Given the description of an element on the screen output the (x, y) to click on. 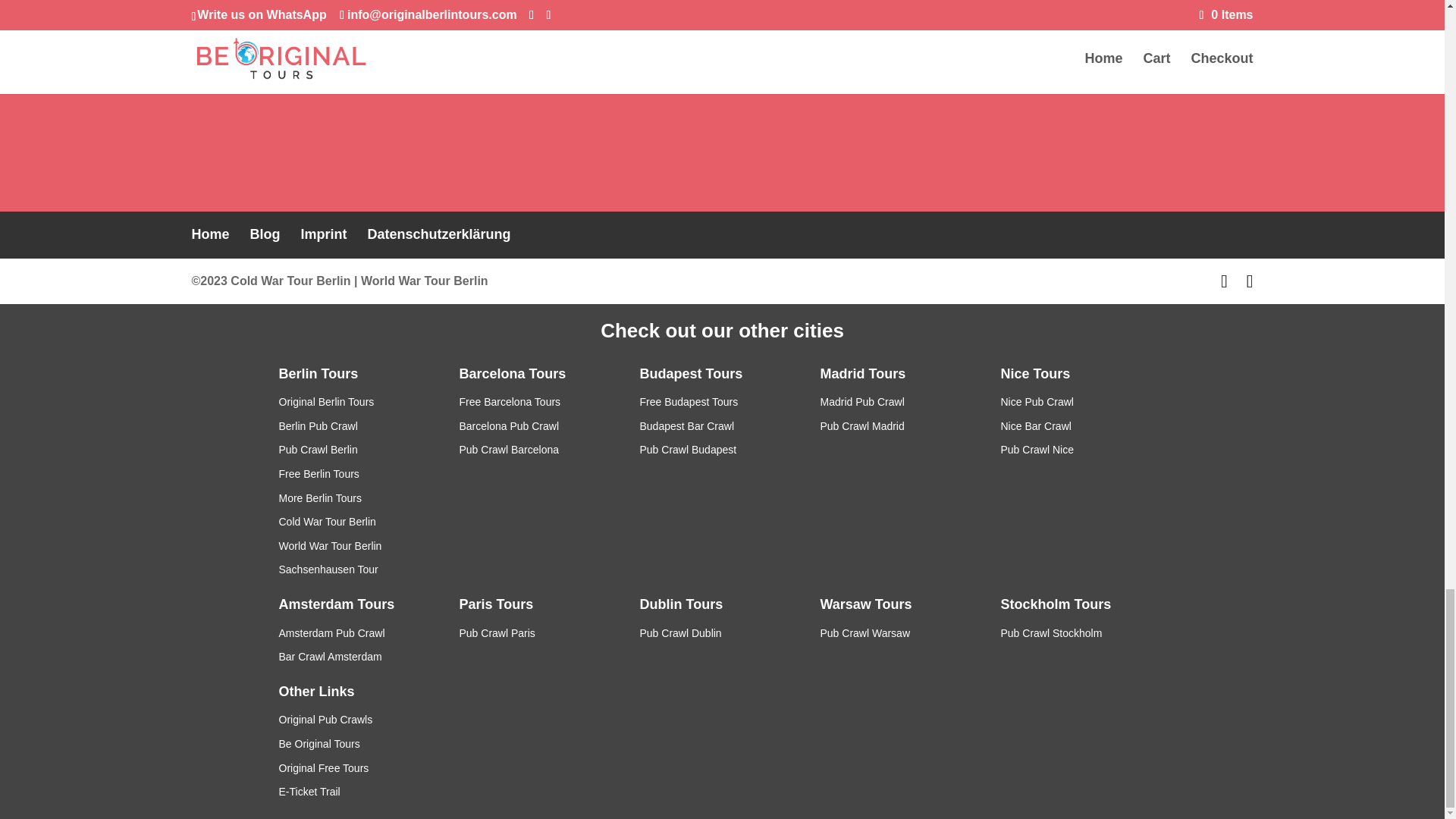
Cold War Tour Berlin (290, 280)
Imprint (324, 233)
Pub Crawl Berlin (318, 449)
Berlin Pub Crawl (318, 426)
More Berlin Tours (320, 498)
World War Tour Berlin (424, 280)
World War Tour Berlin (330, 545)
Free Barcelona Tours (510, 401)
Pub Crawl Barcelona (509, 449)
Sachsenhausen Tour (328, 569)
